Given the description of an element on the screen output the (x, y) to click on. 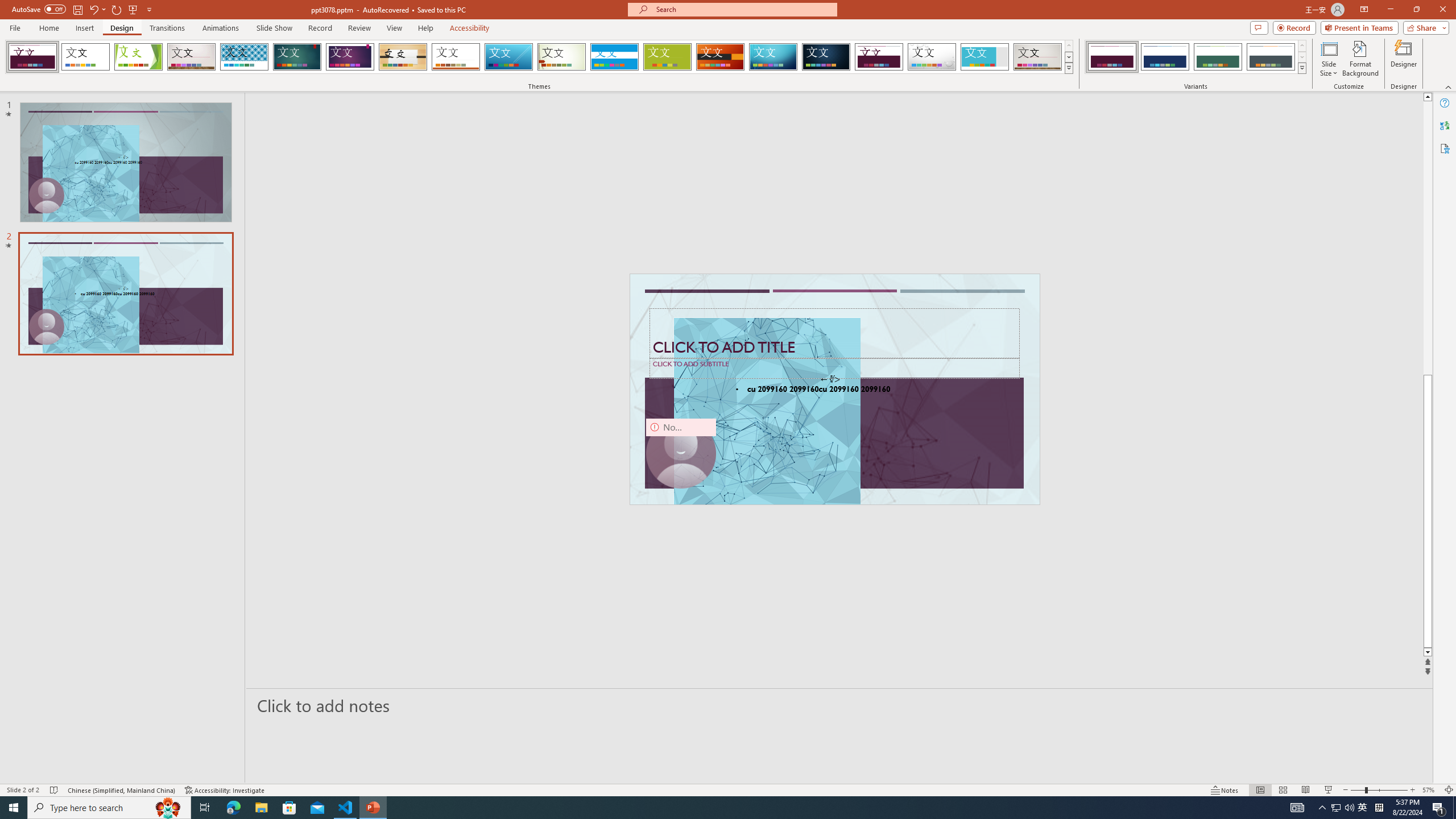
Dividend Variant 1 (1112, 56)
Slide Size (1328, 58)
Camera 9, No camera detected. (681, 453)
Zoom 57% (1430, 790)
Damask (826, 56)
Circuit (772, 56)
